Given the description of an element on the screen output the (x, y) to click on. 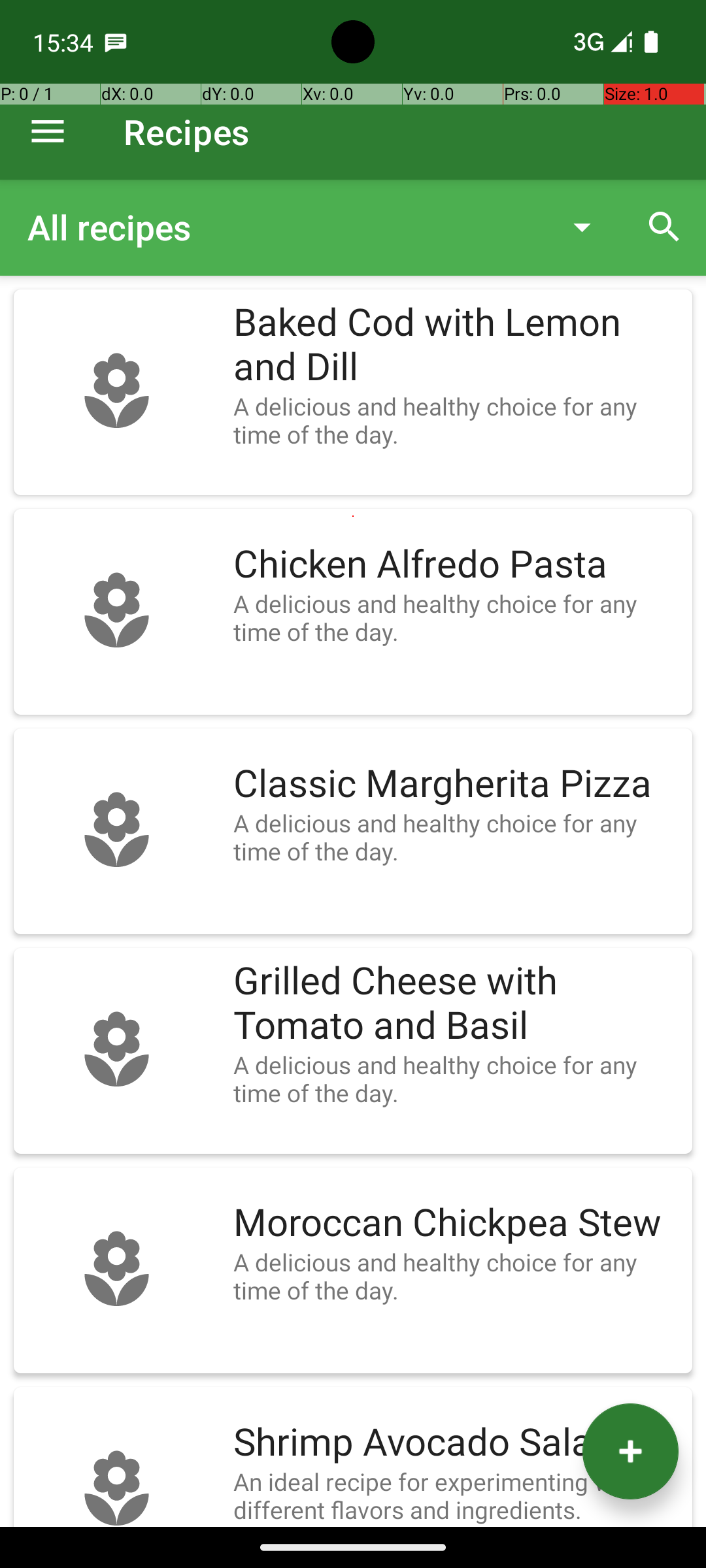
Classic Margherita Pizza Element type: android.widget.TextView (455, 783)
Grilled Cheese with Tomato and Basil Element type: android.widget.TextView (455, 1003)
Moroccan Chickpea Stew Element type: android.widget.TextView (455, 1222)
Shrimp Avocado Salad Element type: android.widget.TextView (455, 1442)
